Given the description of an element on the screen output the (x, y) to click on. 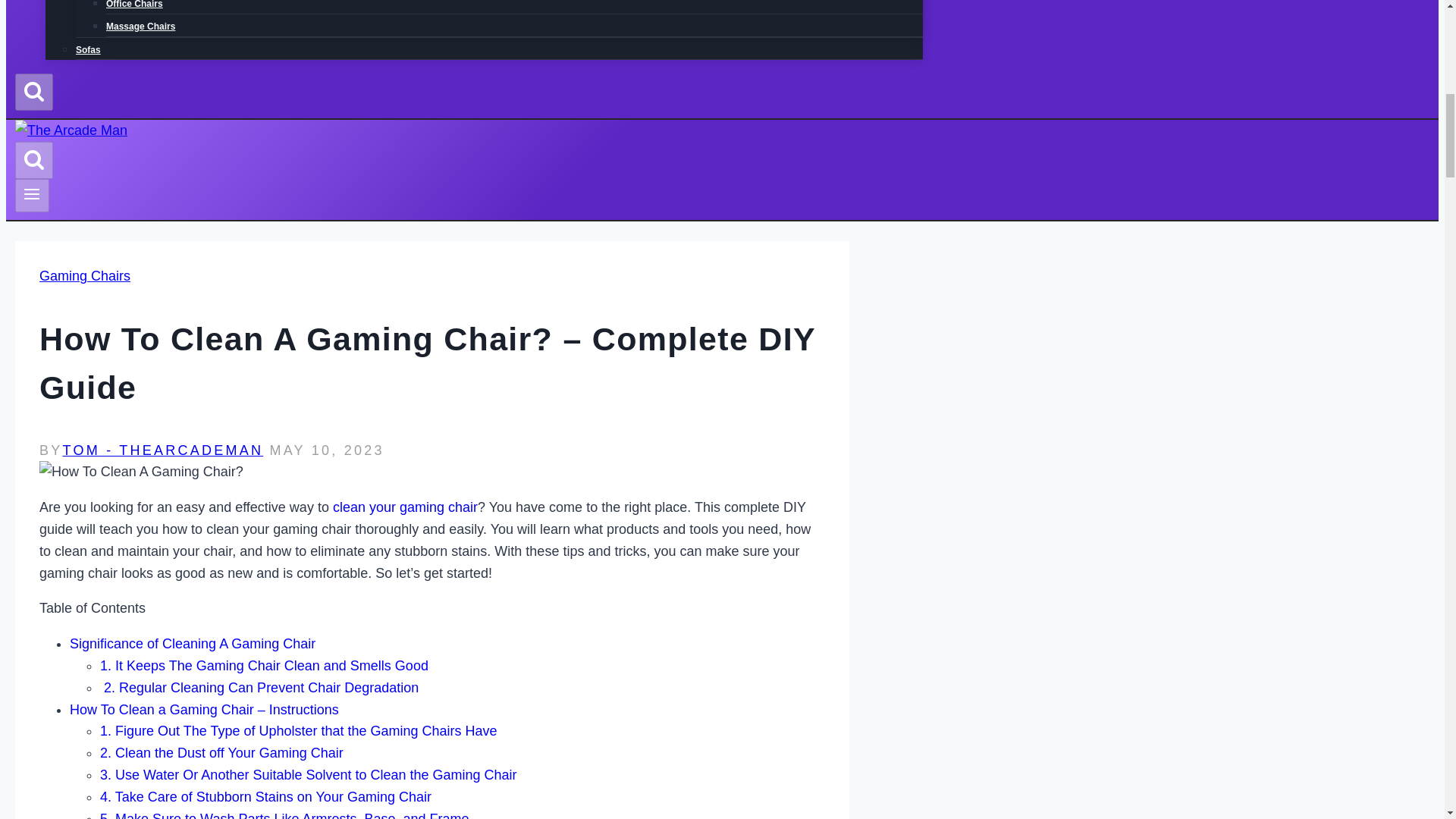
Search (33, 158)
Office Chairs (134, 9)
Massage Chairs (140, 26)
Search (33, 90)
Search (33, 91)
Toggle Menu (31, 194)
Search (33, 160)
